Given the description of an element on the screen output the (x, y) to click on. 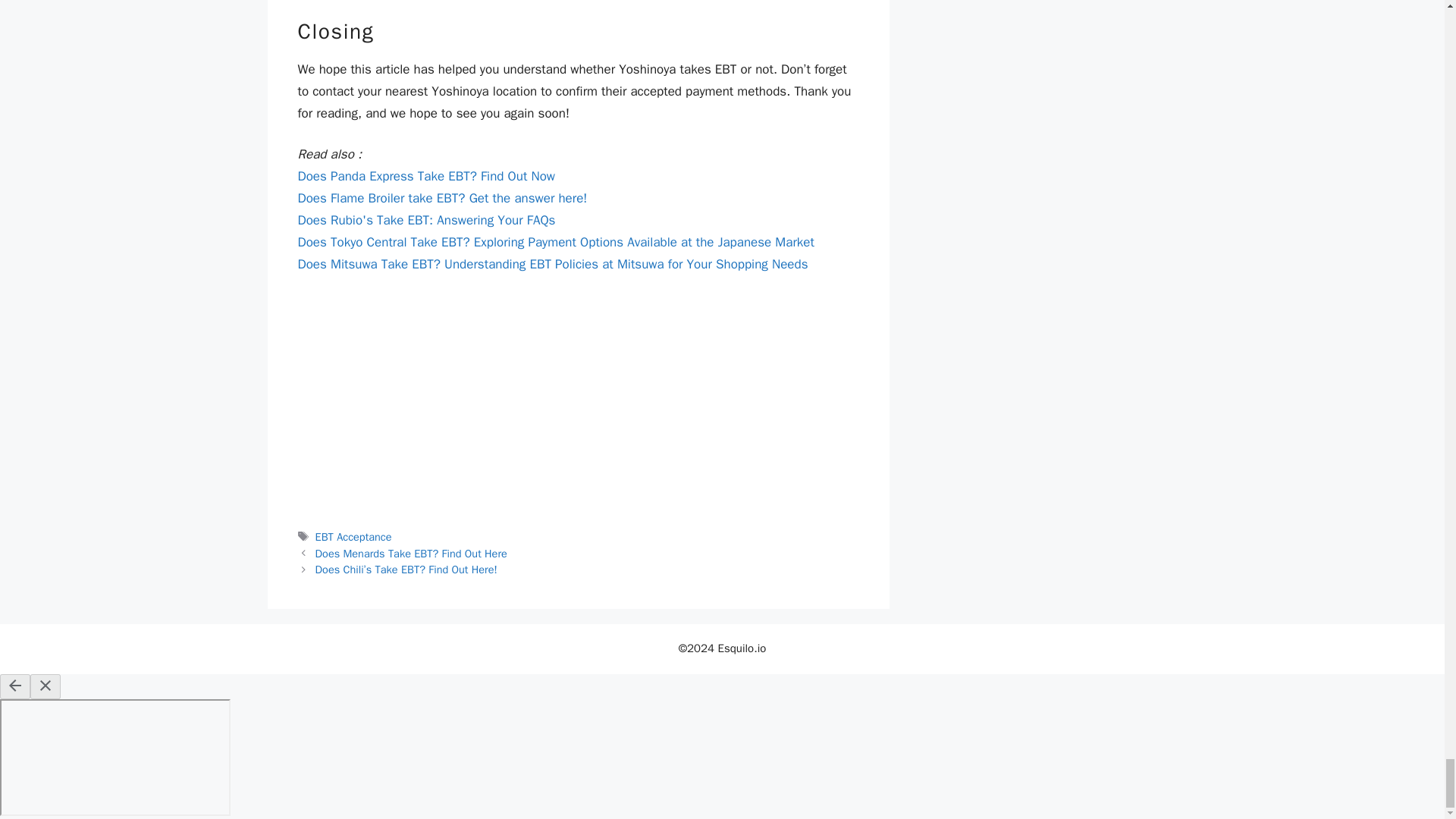
Does Panda Express Take EBT? Find Out Now (425, 176)
Does Flame Broiler take EBT? Get the answer here! (441, 198)
Does Menards Take EBT? Find Out Here (410, 553)
EBT Acceptance (353, 536)
Does Rubio's Take EBT: Answering Your FAQs (425, 220)
